Given the description of an element on the screen output the (x, y) to click on. 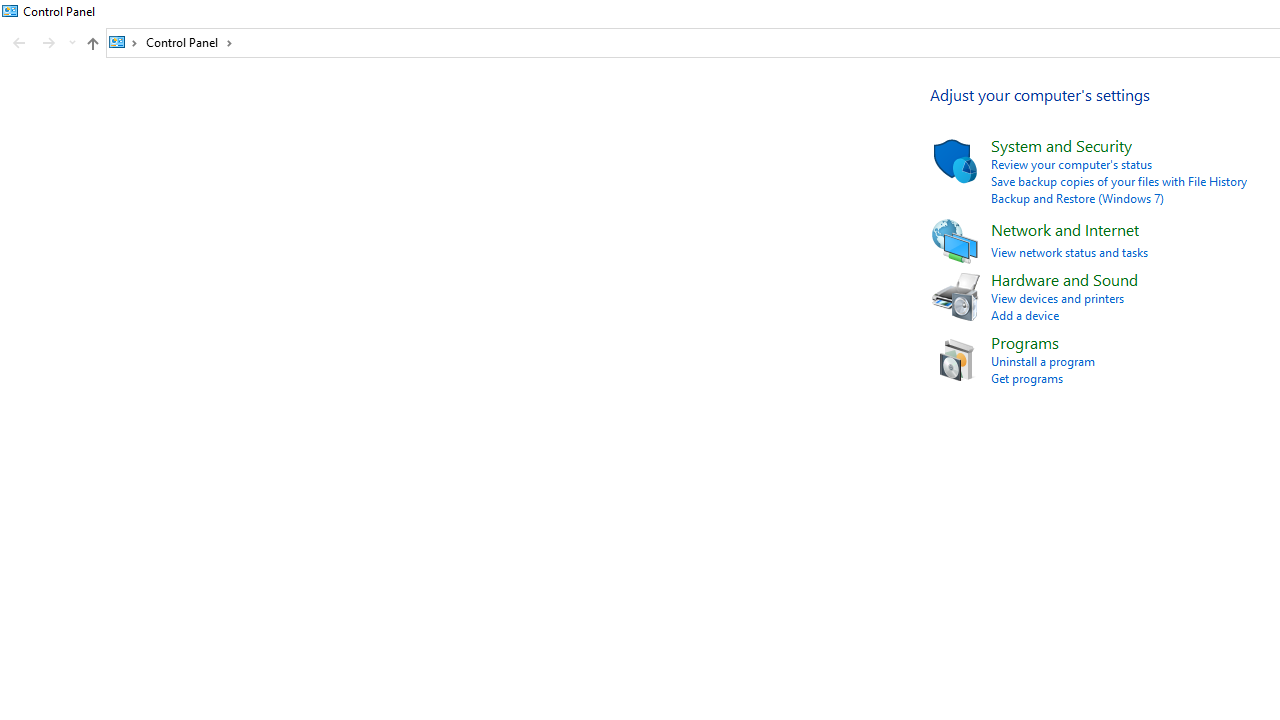
Save backup copies of your files with File History (1119, 181)
Control Panel (189, 42)
Forward (Alt + Right Arrow) (49, 43)
View network status and tasks (1069, 251)
Add a device (1025, 315)
System (10, 11)
Hardware and Sound (1064, 279)
Uninstall a program (1042, 361)
